Given the description of an element on the screen output the (x, y) to click on. 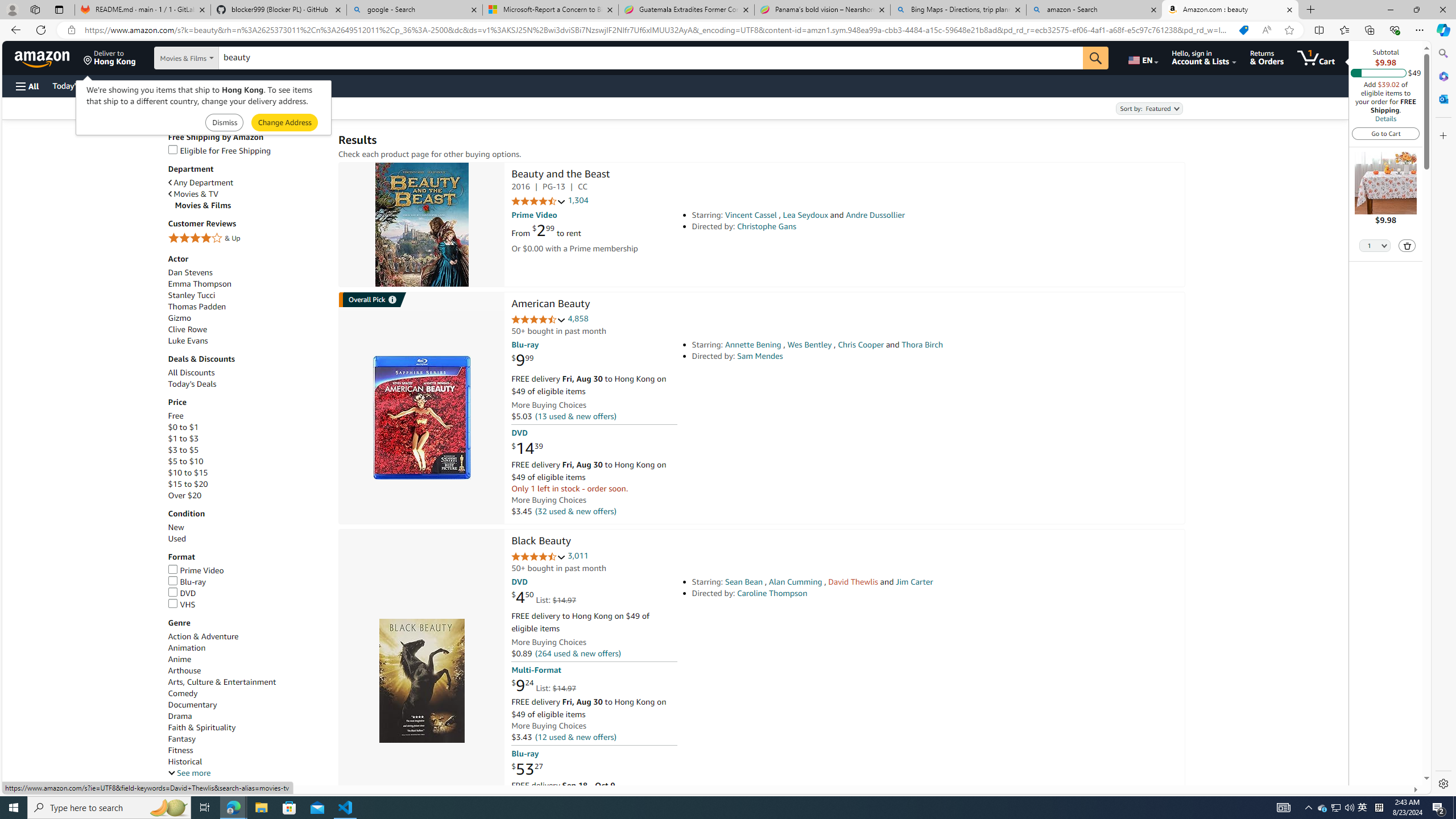
Action & Adventure (247, 636)
Blu-ray (186, 581)
Registry (205, 85)
Sean Bean (743, 581)
David Thewlis (852, 581)
Used (247, 538)
Drama (179, 715)
4 Stars & Up (247, 238)
Arthouse (183, 670)
Shopping in Microsoft Edge (1243, 29)
See more, Genre (189, 773)
4,858 (577, 318)
